Given the description of an element on the screen output the (x, y) to click on. 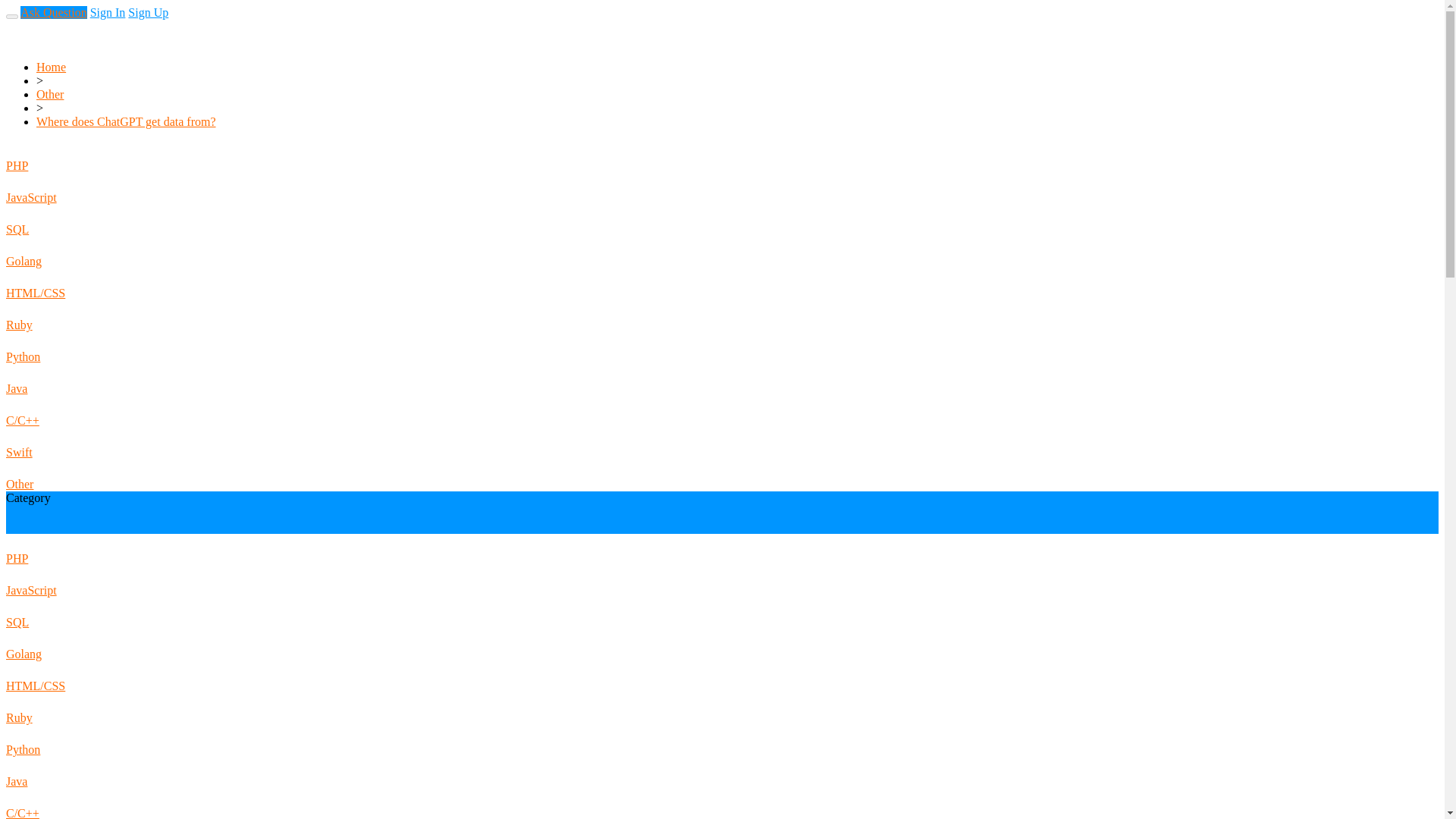
Home (50, 66)
Sign Up (2, 53)
Home (2, 26)
Where does ChatGPT get data from? (125, 121)
Ask Question (53, 11)
Sign In (2, 39)
Sign In (107, 11)
Sign Up (148, 11)
Other (50, 93)
